Given the description of an element on the screen output the (x, y) to click on. 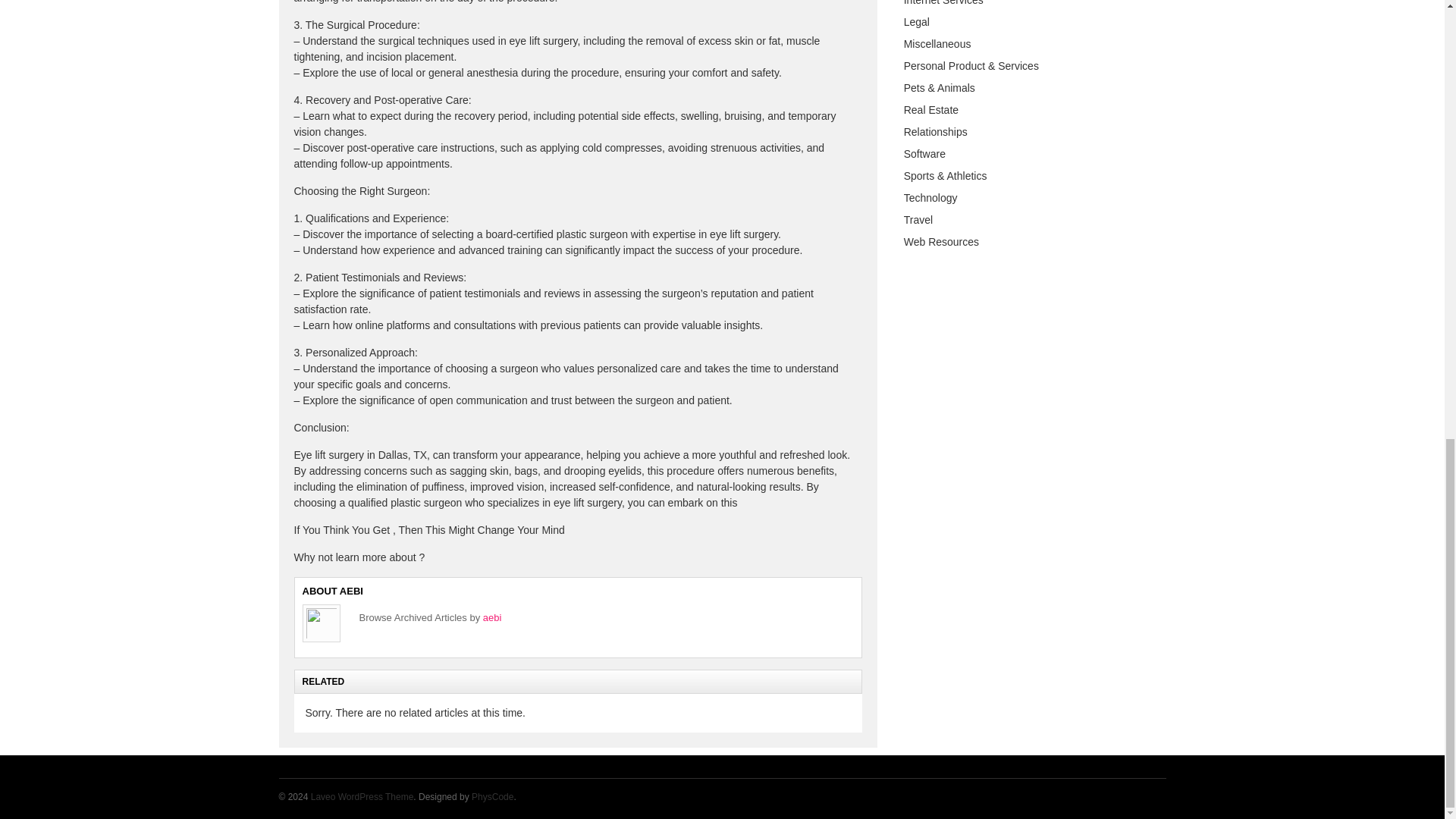
Real Estate (931, 110)
If You Think You Get , Then This Might Change Your Mind (429, 530)
Why not learn more about ? (359, 557)
Internet Services (944, 2)
Miscellaneous (937, 43)
Legal (917, 21)
aebi (492, 617)
